Given the description of an element on the screen output the (x, y) to click on. 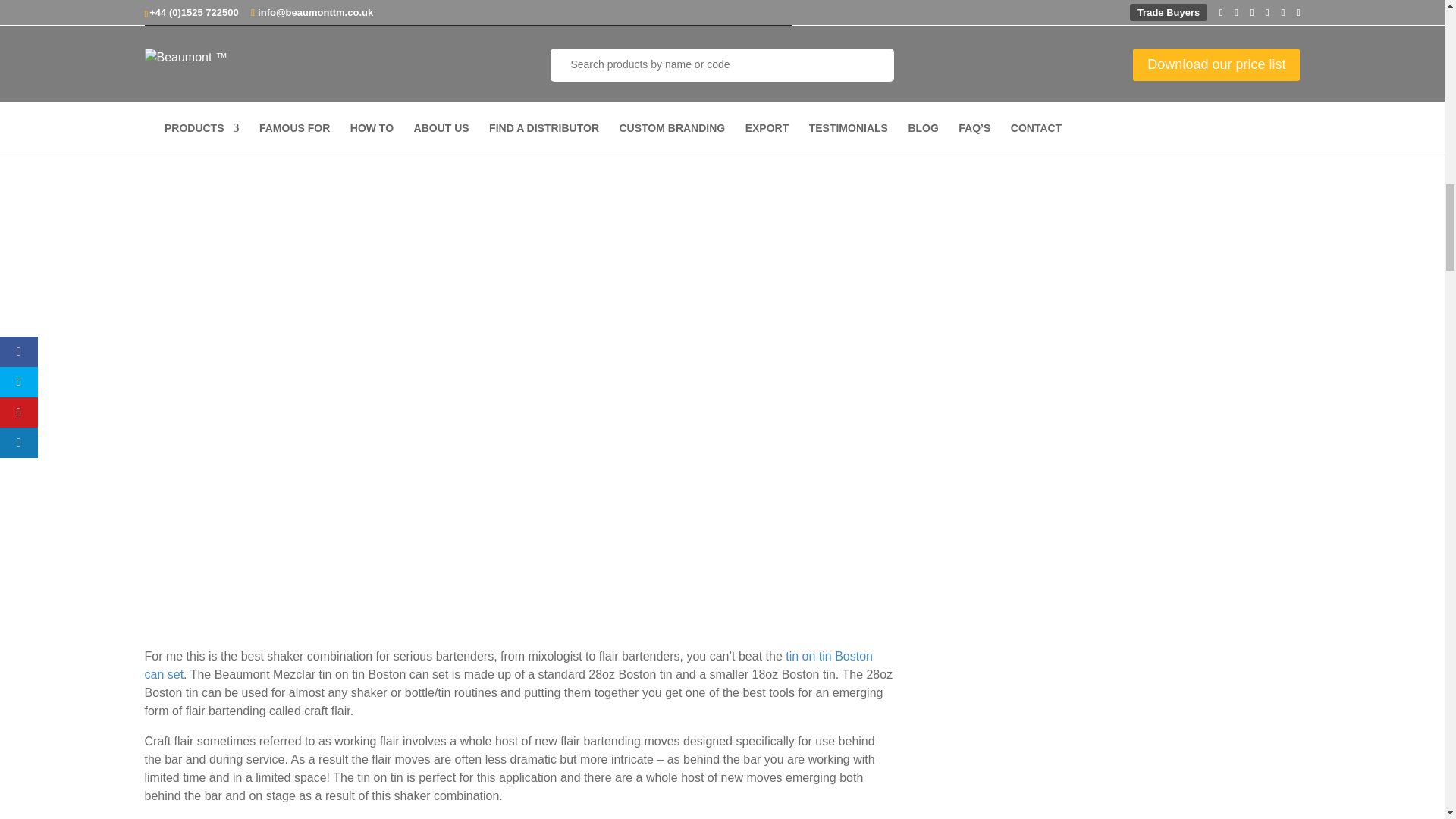
Fullscreen (771, 47)
Mute (747, 47)
Play (163, 47)
